Given the description of an element on the screen output the (x, y) to click on. 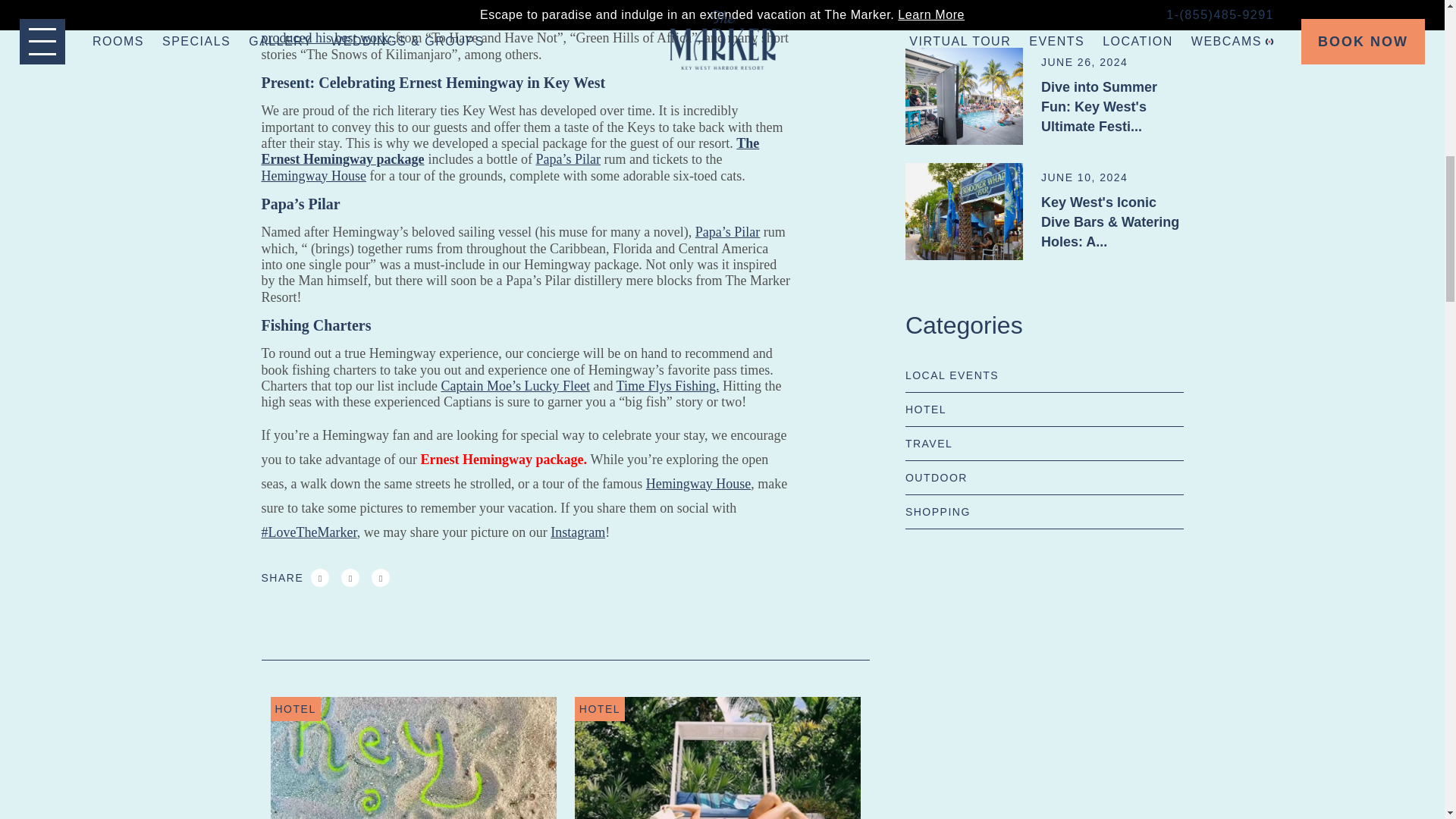
Share on Twitter (349, 577)
Share by Email (380, 577)
Share on Facebook (320, 577)
